Given the description of an element on the screen output the (x, y) to click on. 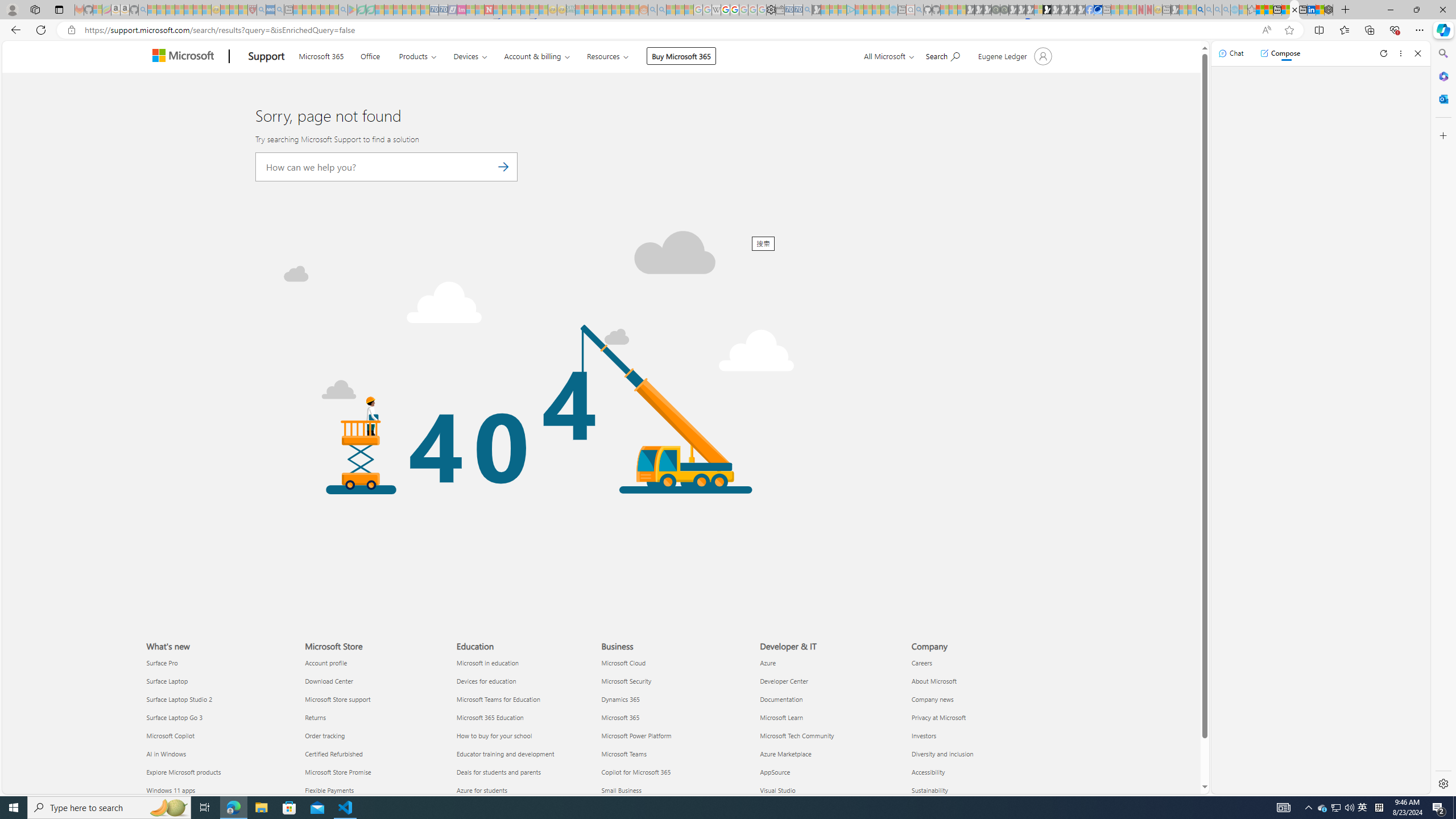
Visual Studio Developer & IT (777, 789)
Azure (829, 662)
github - Search - Sleeping (919, 9)
Devices for education (525, 680)
Microsoft Copilot (218, 735)
Flexible Payments Microsoft Store (328, 789)
Diversity and inclusion (980, 753)
Careers Company (922, 662)
MSN - Sleeping (1174, 9)
AI in Windows What's new (165, 753)
Company news Company (932, 698)
